Given the description of an element on the screen output the (x, y) to click on. 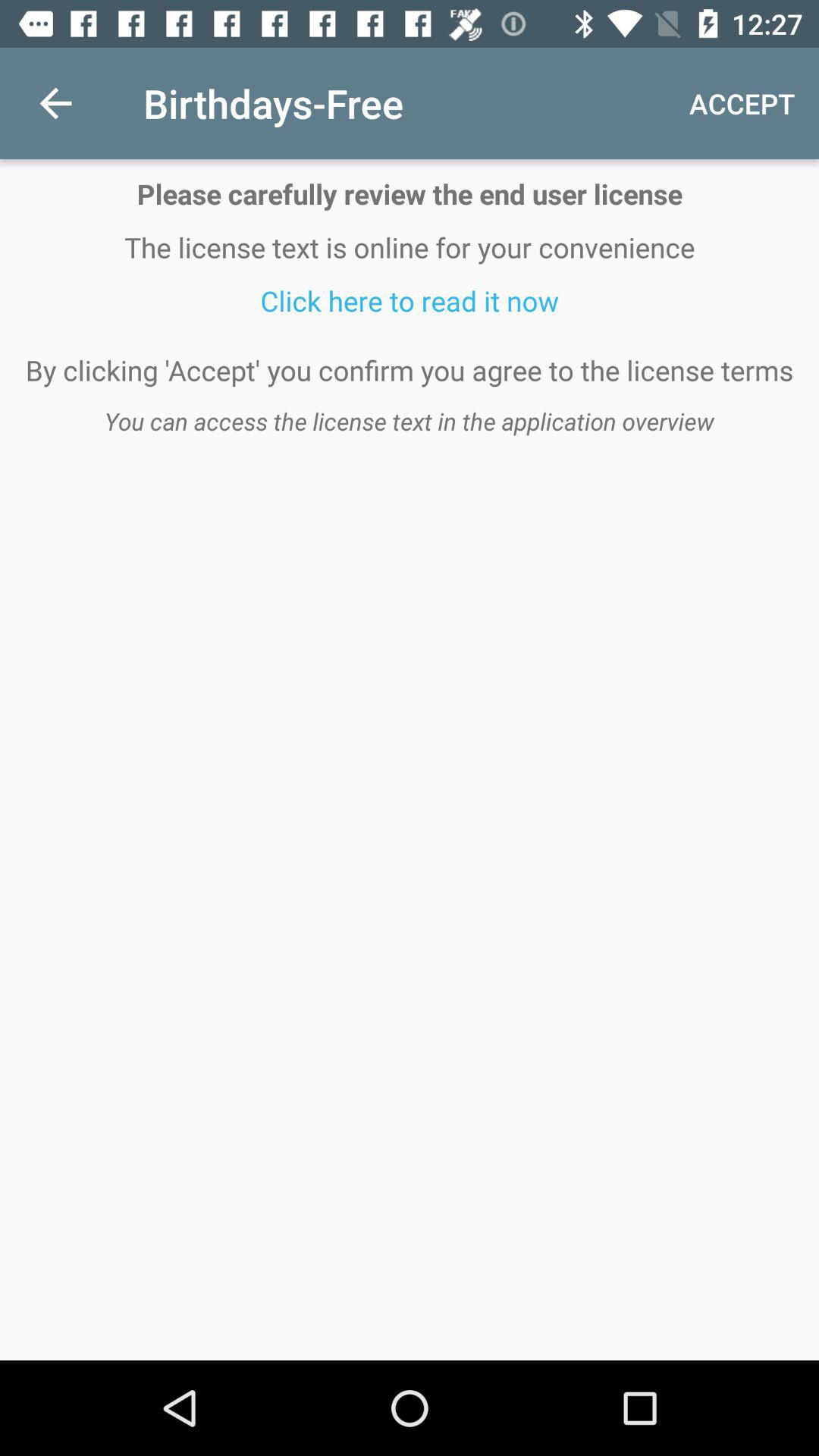
tap the icon above please carefully review item (55, 103)
